Given the description of an element on the screen output the (x, y) to click on. 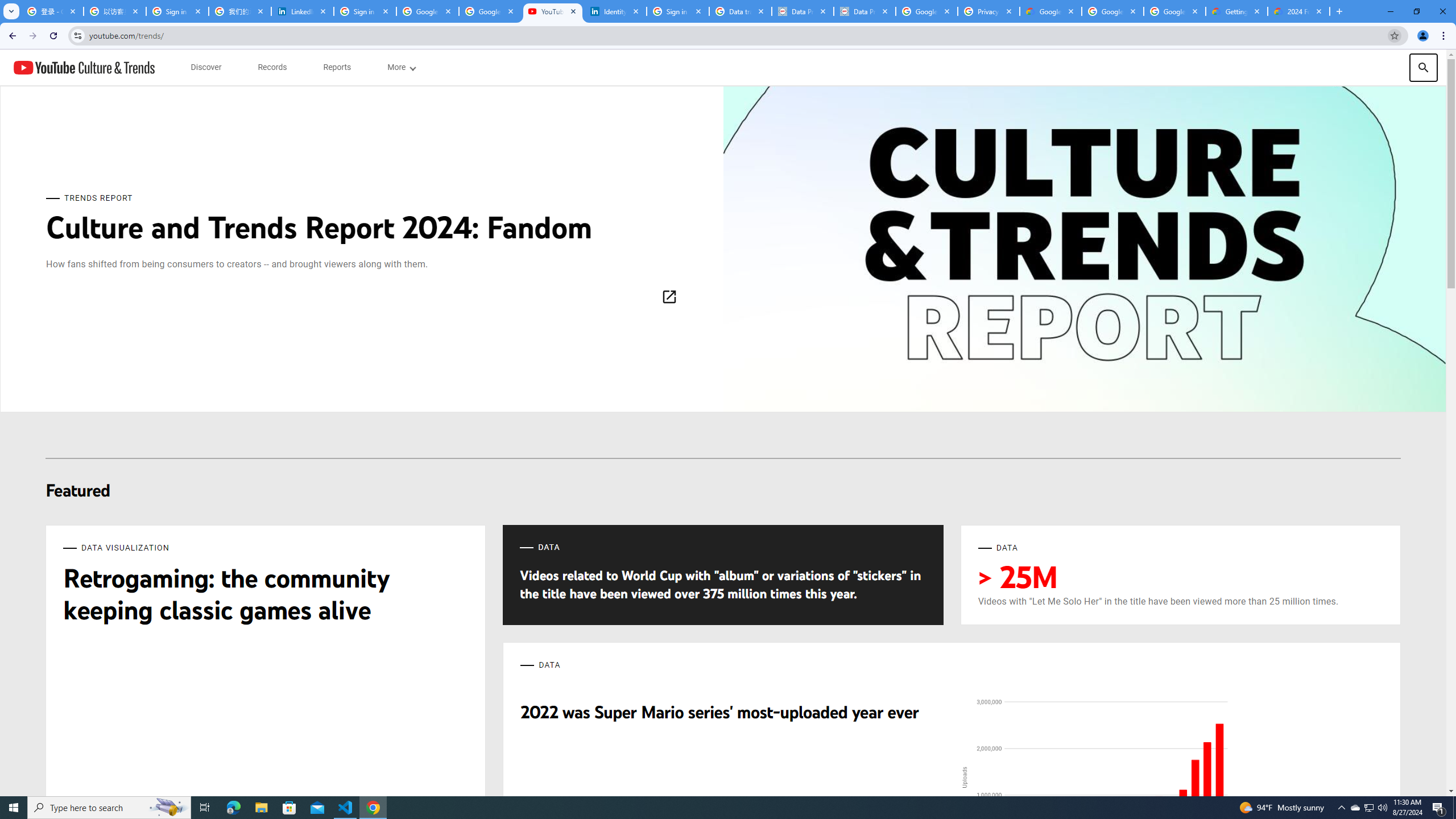
Sign in - Google Accounts (365, 11)
LinkedIn Privacy Policy (302, 11)
subnav-Records menupopup (271, 67)
Data Privacy Framework (864, 11)
